Given the description of an element on the screen output the (x, y) to click on. 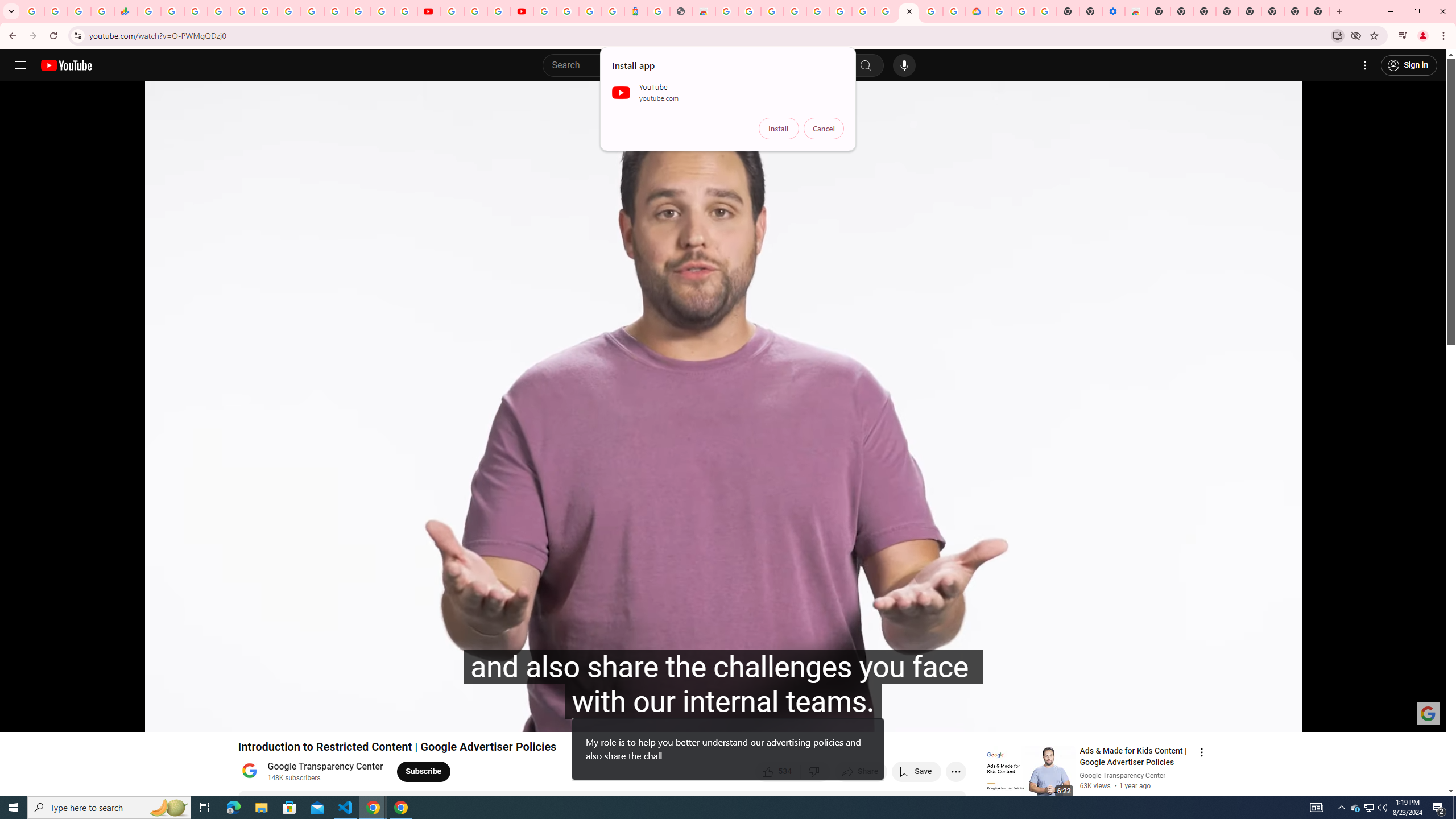
YouTube (428, 11)
Autoplay is on (1289, 718)
Install YouTube (1336, 35)
Sign in - Google Accounts (381, 11)
Create your Google Account (931, 11)
Sign in - Google Accounts (545, 11)
Guide (20, 65)
New Tab (1318, 11)
Atour Hotel - Google hotels (635, 11)
Miniplayer (i) (1370, 718)
